Given the description of an element on the screen output the (x, y) to click on. 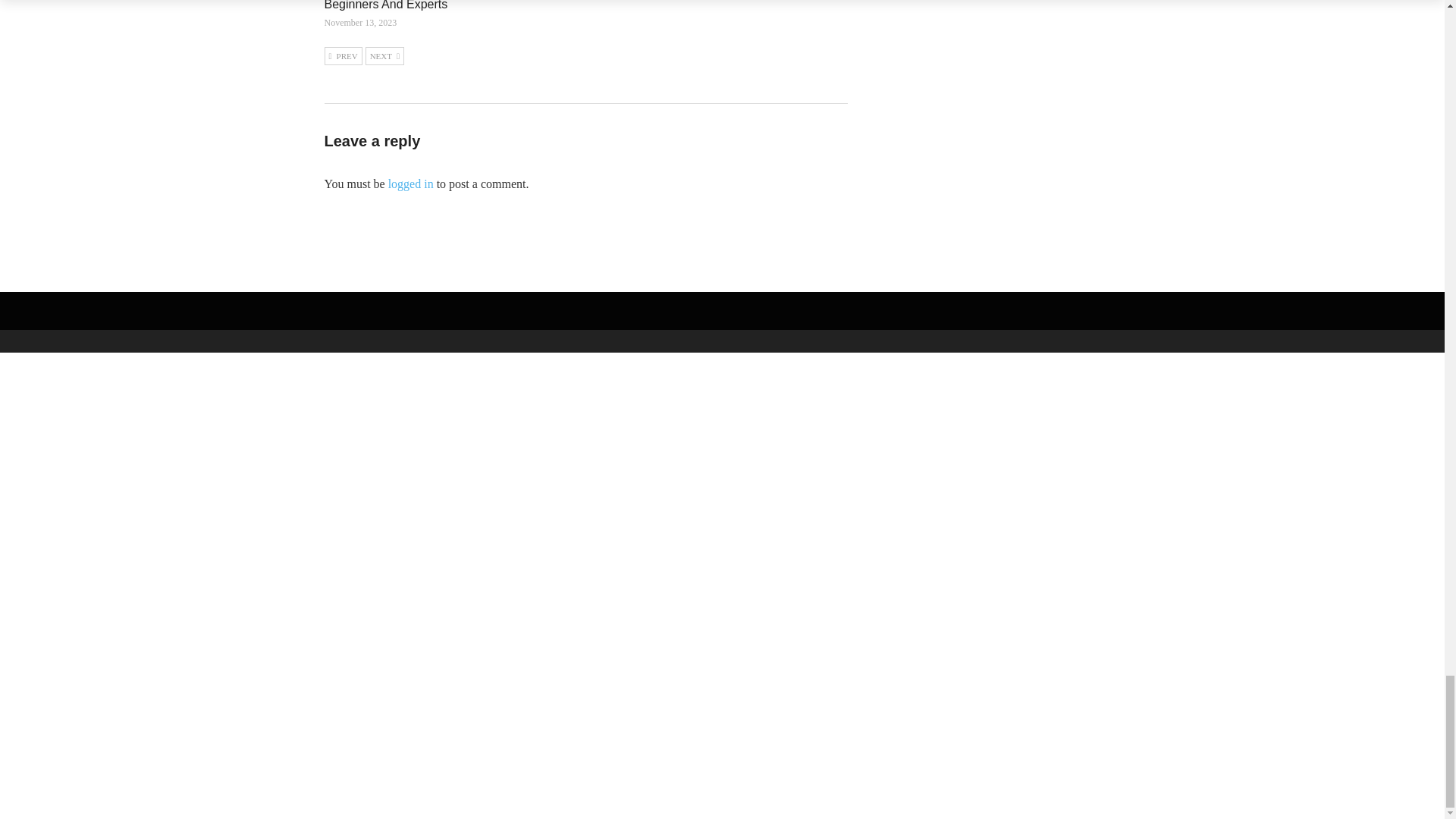
Previous (343, 55)
PREV (343, 55)
Next (384, 55)
NEXT (384, 55)
logged in (410, 183)
